Given the description of an element on the screen output the (x, y) to click on. 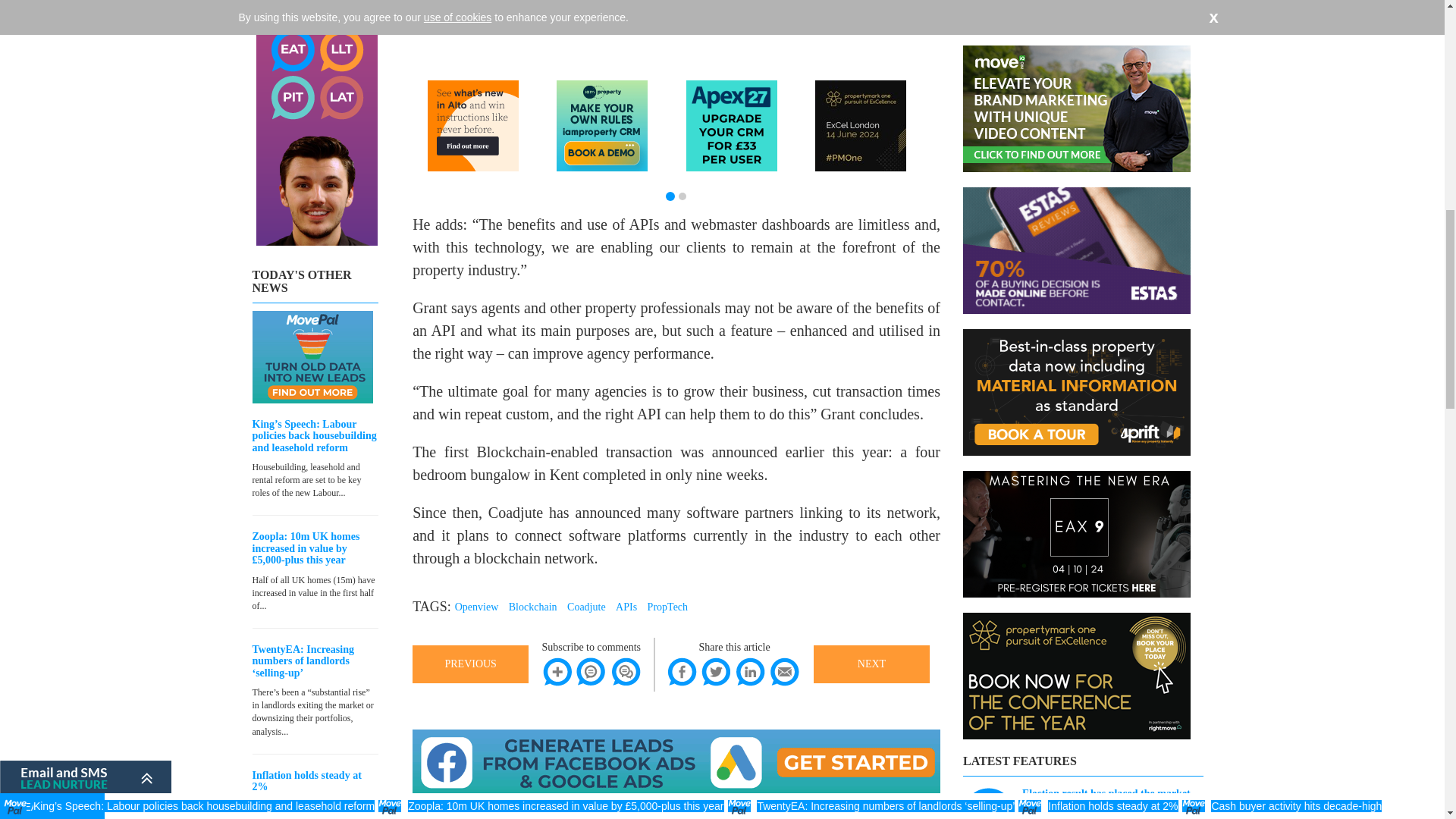
Property Podcast Today (316, 122)
Save for later (556, 672)
Property Mark (860, 125)
iamproperty (601, 125)
Alto - Zoopla (473, 125)
MovePal (311, 357)
Apex27 (731, 125)
